Given the description of an element on the screen output the (x, y) to click on. 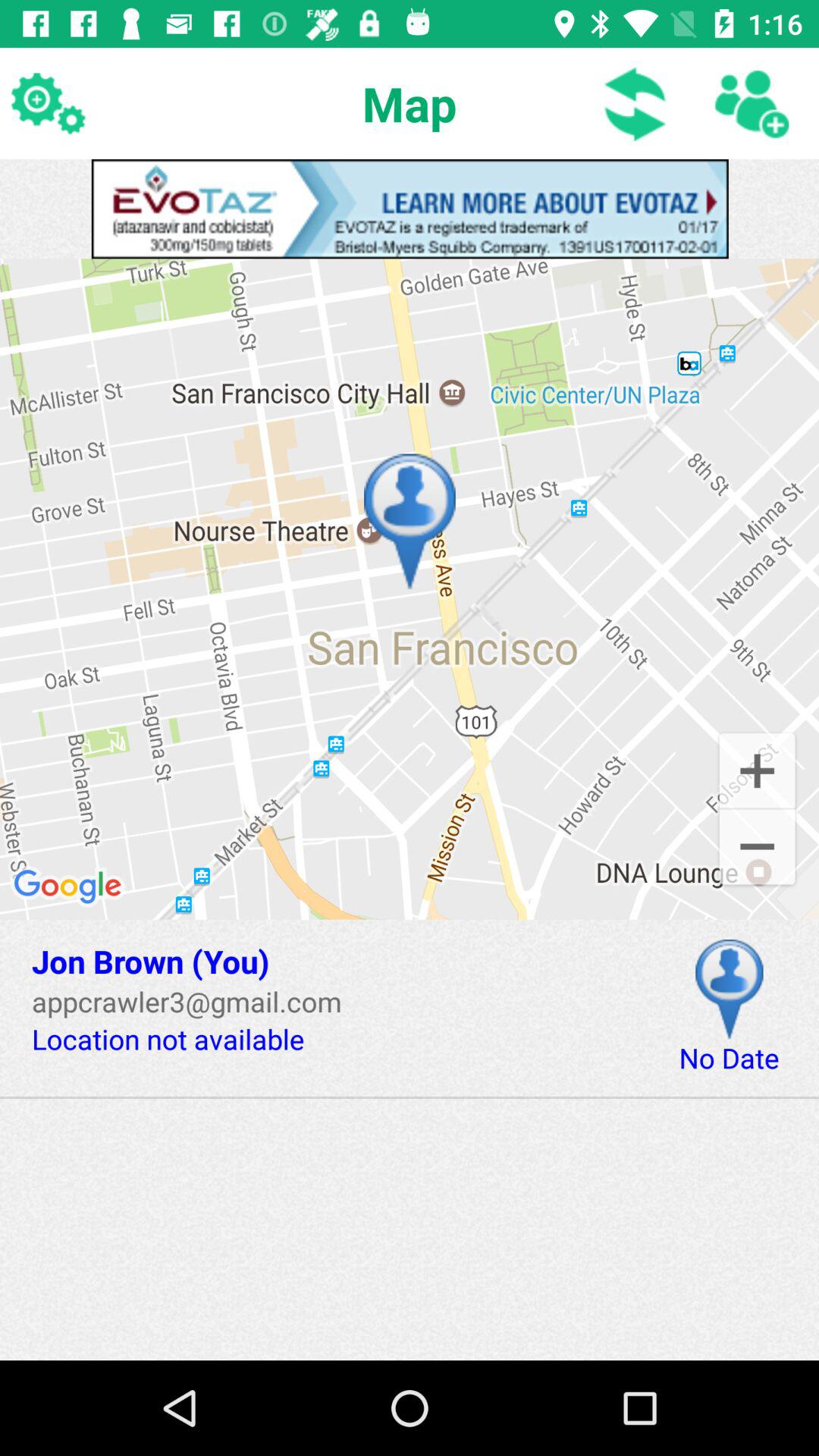
location on map (729, 989)
